Given the description of an element on the screen output the (x, y) to click on. 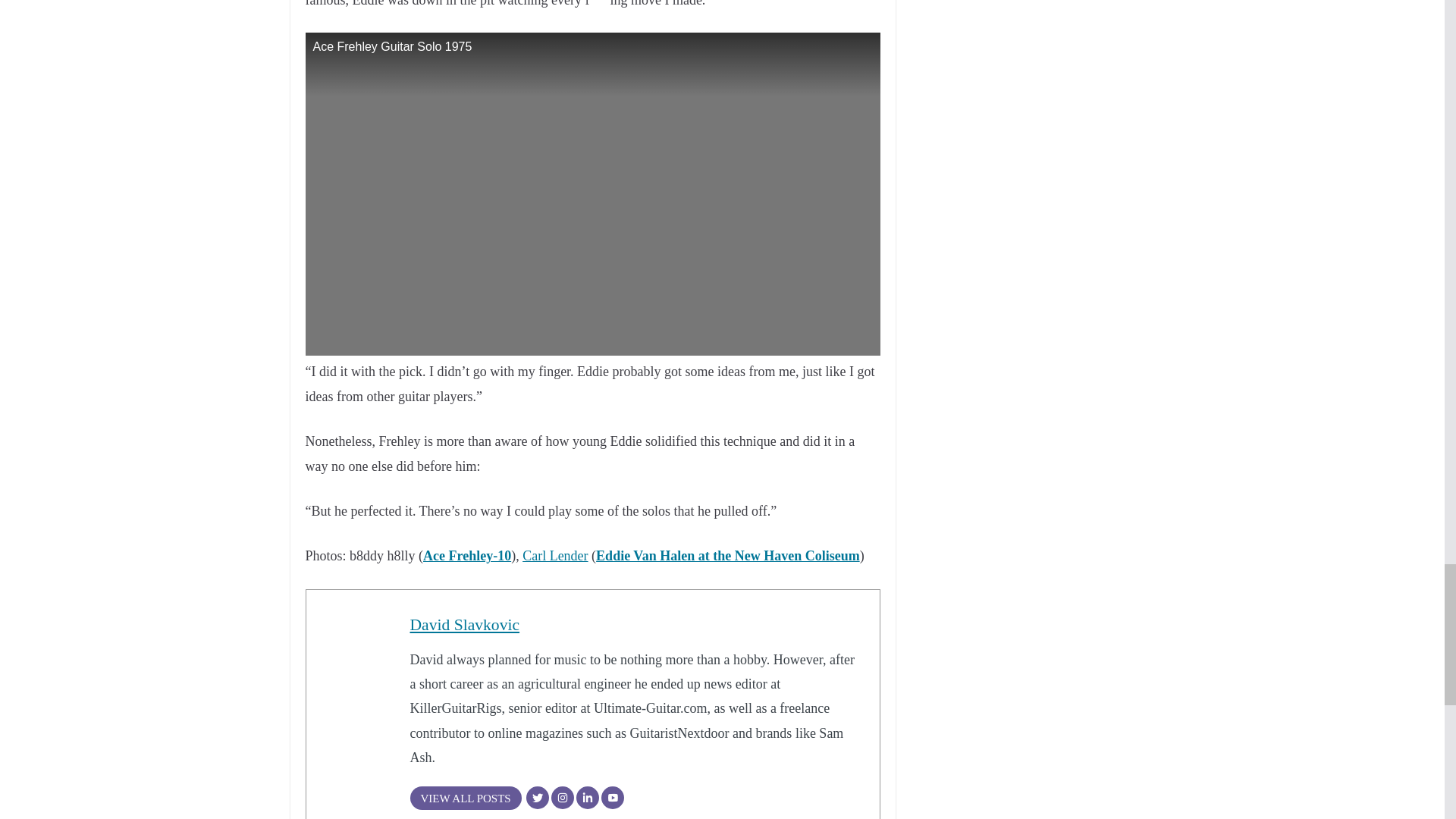
View all posts (465, 797)
David Slavkovic (464, 624)
